Given the description of an element on the screen output the (x, y) to click on. 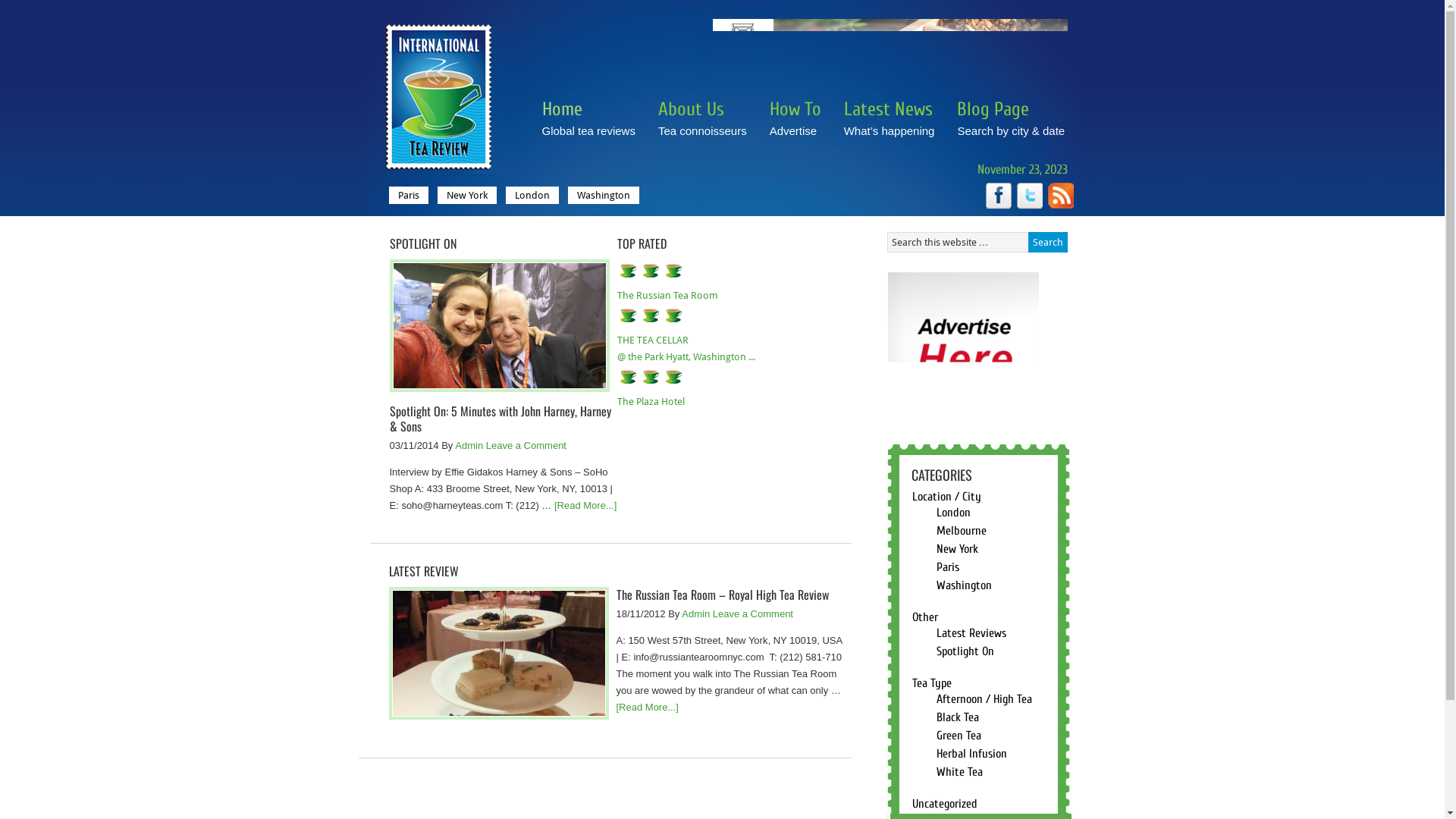
How To
Advertise Element type: text (795, 127)
[Read More...] Element type: text (585, 505)
The Russian Tea Room Element type: text (667, 295)
Leave a Comment Element type: text (526, 445)
Green Tea Element type: text (957, 735)
Blog Page
Search by city & date Element type: text (1010, 127)
Other Element type: text (924, 617)
About Us
Tea connoisseurs Element type: text (702, 127)
Herbal Infusion Element type: text (970, 753)
[Read More...] Element type: text (646, 706)
White Tea Element type: text (958, 771)
New York Element type: text (465, 194)
Home
Global tea reviews Element type: text (588, 127)
Paris Element type: text (407, 194)
Spotlight On Element type: text (964, 651)
The Plaza Hotel Element type: text (650, 401)
THE TEA CELLAR
@ the Park Hyatt, Washington ... Element type: text (686, 348)
Black Tea Element type: text (956, 717)
Admin Element type: text (695, 613)
Admin Element type: text (469, 445)
Latest Reviews Element type: text (970, 633)
  Element type: text (1060, 195)
  Element type: text (998, 195)
Afternoon / High Tea Element type: text (983, 699)
Location / City Element type: text (945, 496)
Melbourne Element type: text (960, 530)
Washington Element type: text (602, 194)
Leave a Comment Element type: text (752, 613)
WWW.INTERNATIONALTEAREVIEW.COM Element type: text (437, 82)
Spotlight On: 5 Minutes with John Harney, Harney & Sons Element type: text (500, 418)
London Element type: text (531, 194)
Uncategorized Element type: text (943, 803)
Tea Type Element type: text (930, 683)
Washington Element type: text (963, 585)
New York Element type: text (956, 548)
  Element type: text (1028, 195)
London Element type: text (952, 512)
Search Element type: text (1047, 242)
Paris Element type: text (946, 567)
